Given the description of an element on the screen output the (x, y) to click on. 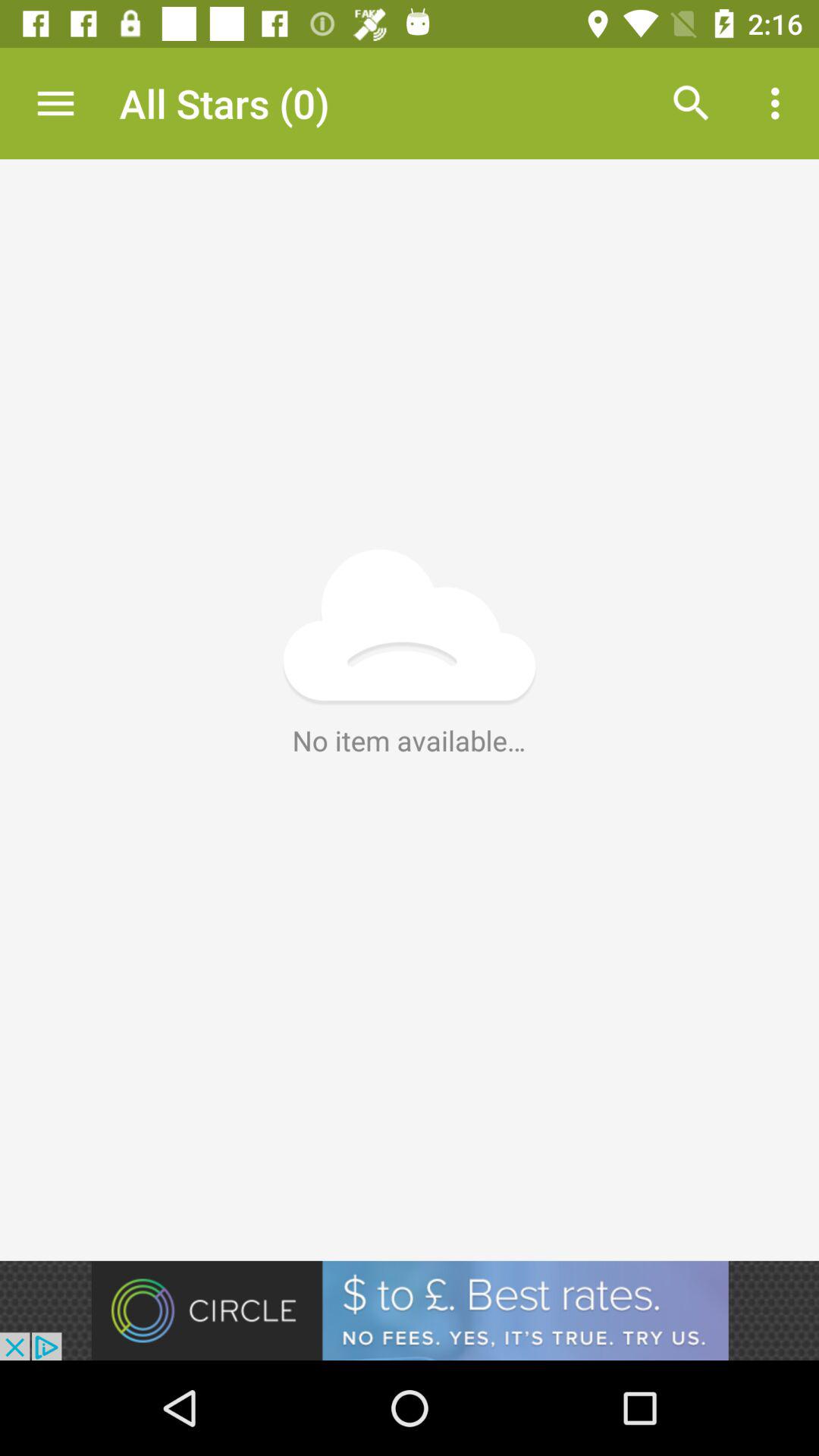
advisement (409, 1310)
